Given the description of an element on the screen output the (x, y) to click on. 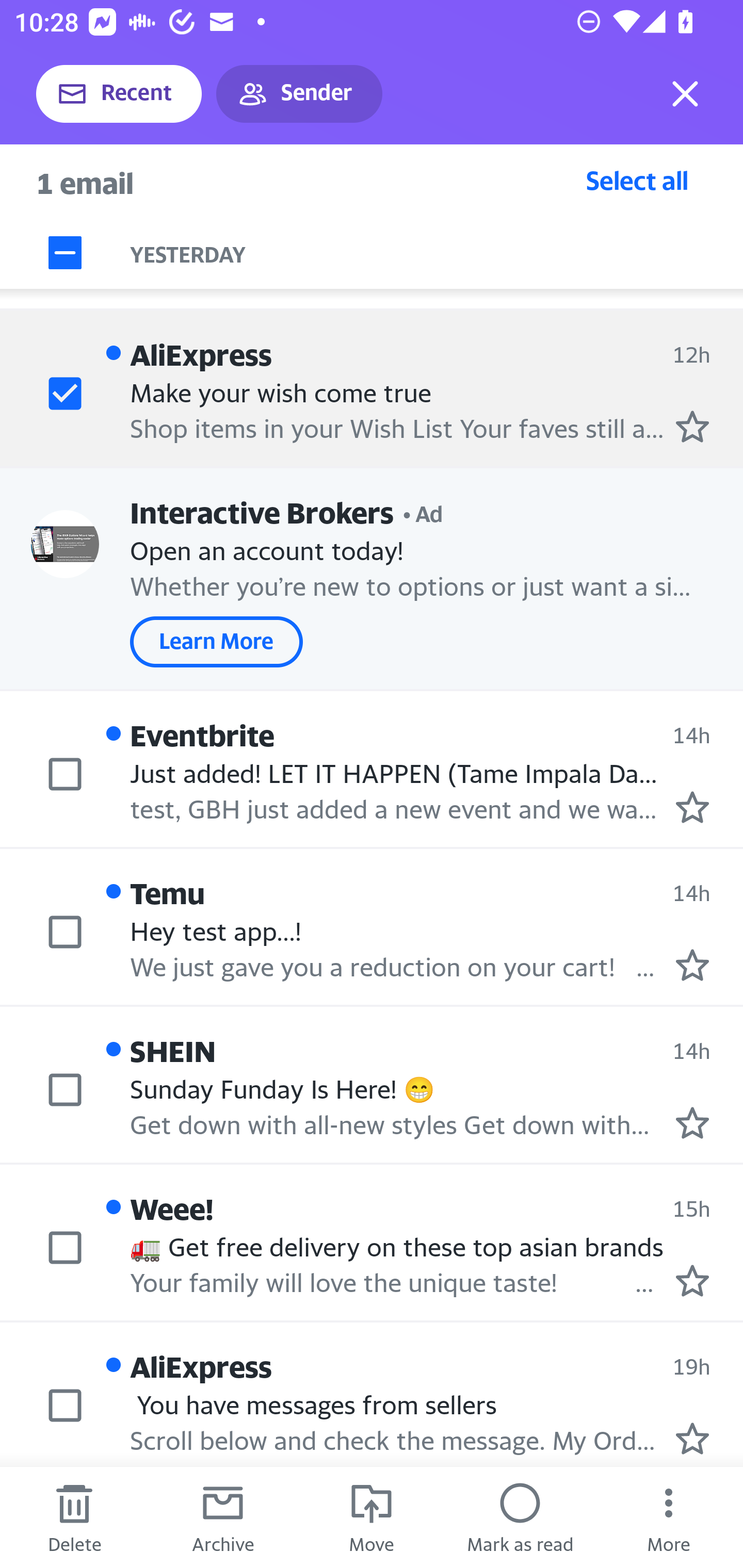
Sender (299, 93)
Exit selection mode (684, 93)
Select all (637, 180)
Mark as starred. (692, 427)
Mark as starred. (692, 806)
Mark as starred. (692, 965)
Mark as starred. (692, 1123)
Mark as starred. (692, 1280)
Mark as starred. (692, 1438)
Delete (74, 1517)
Archive (222, 1517)
Move (371, 1517)
Mark as read (519, 1517)
More (668, 1517)
